Given the description of an element on the screen output the (x, y) to click on. 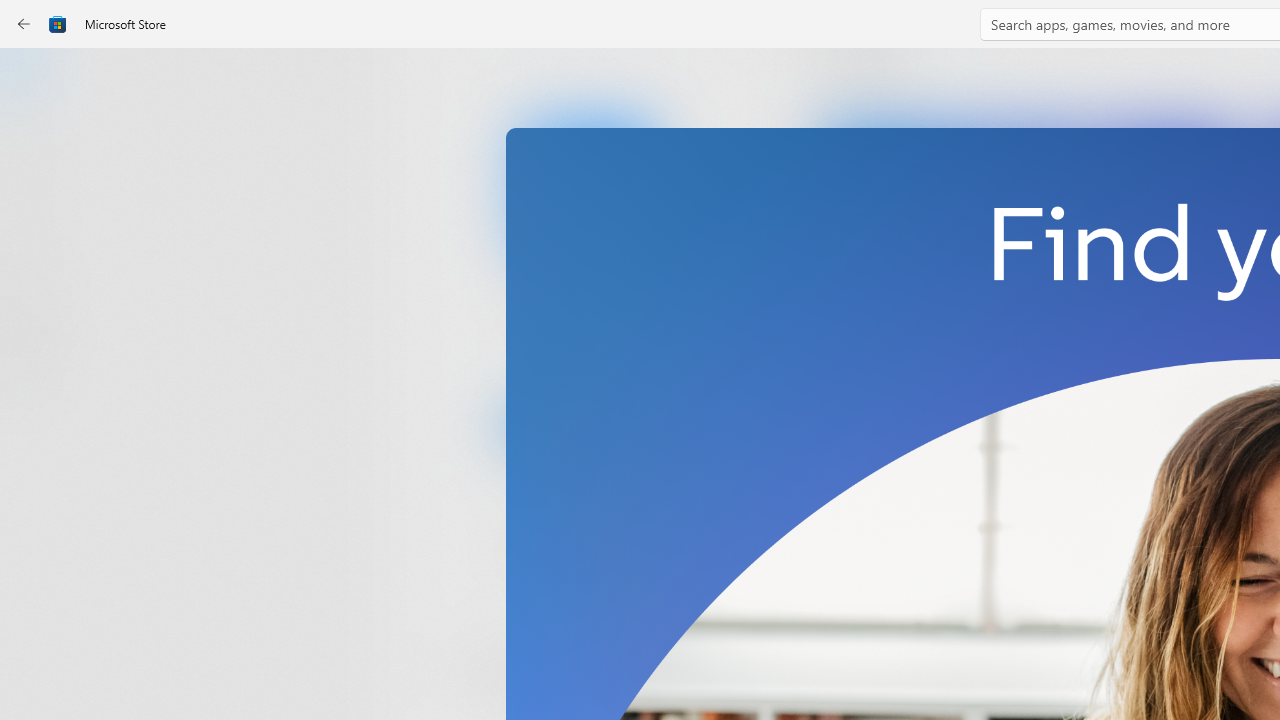
Gaming (35, 203)
Entertainment (35, 327)
3.9 stars. Click to skip to ratings and reviews (542, 556)
AI Hub (35, 390)
LinkedIn (585, 333)
Screenshot 1 (1029, 279)
Arcade (35, 265)
Get (586, 424)
Class: Image (58, 24)
Home (35, 79)
Back (24, 24)
